Given the description of an element on the screen output the (x, y) to click on. 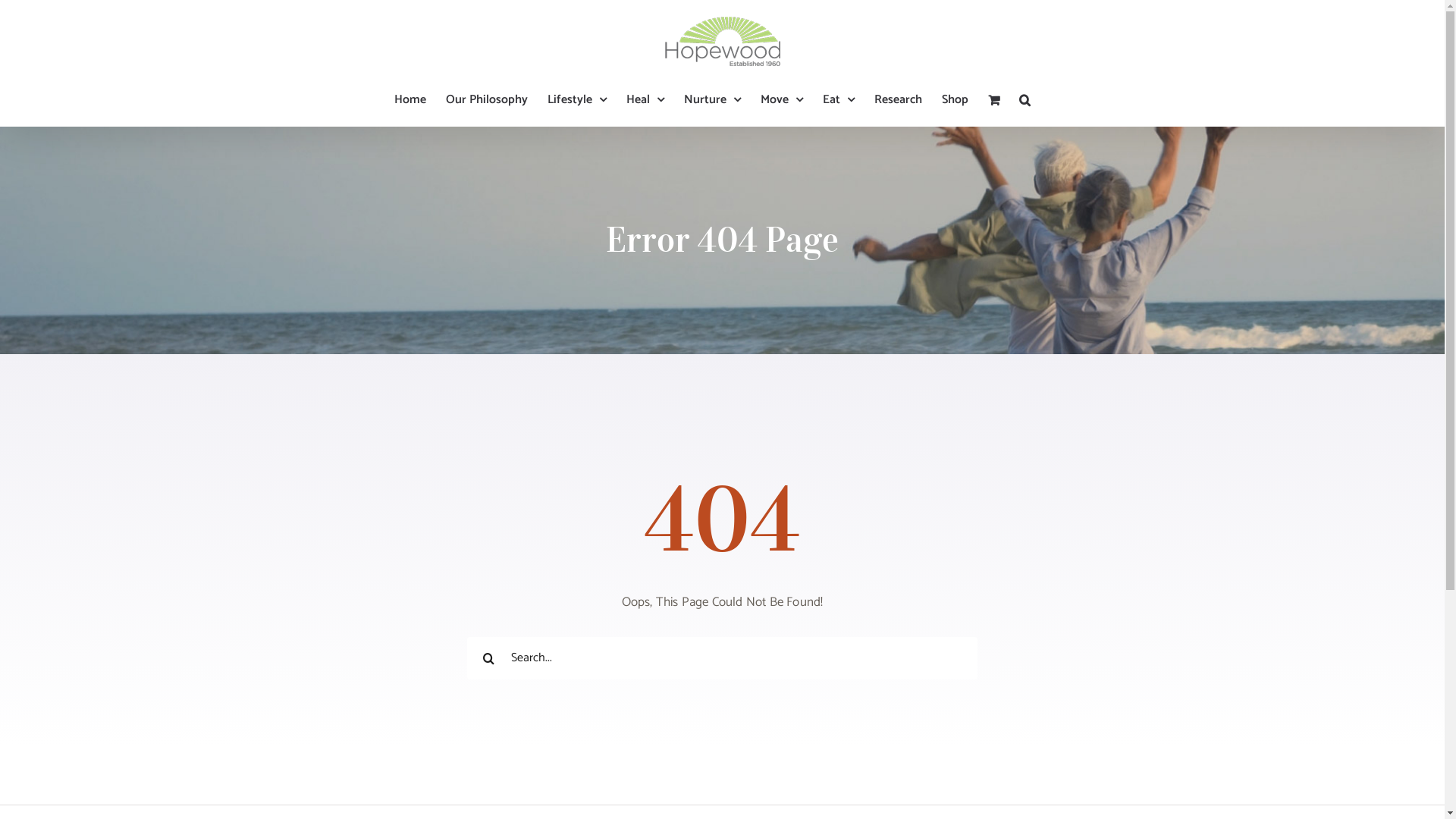
Move Element type: text (781, 99)
Eat Element type: text (838, 99)
Heal Element type: text (645, 99)
Our Philosophy Element type: text (486, 99)
Search Element type: hover (1024, 99)
Lifestyle Element type: text (576, 99)
Research Element type: text (898, 99)
Home Element type: text (410, 99)
Shop Element type: text (954, 99)
Nurture Element type: text (712, 99)
